Given the description of an element on the screen output the (x, y) to click on. 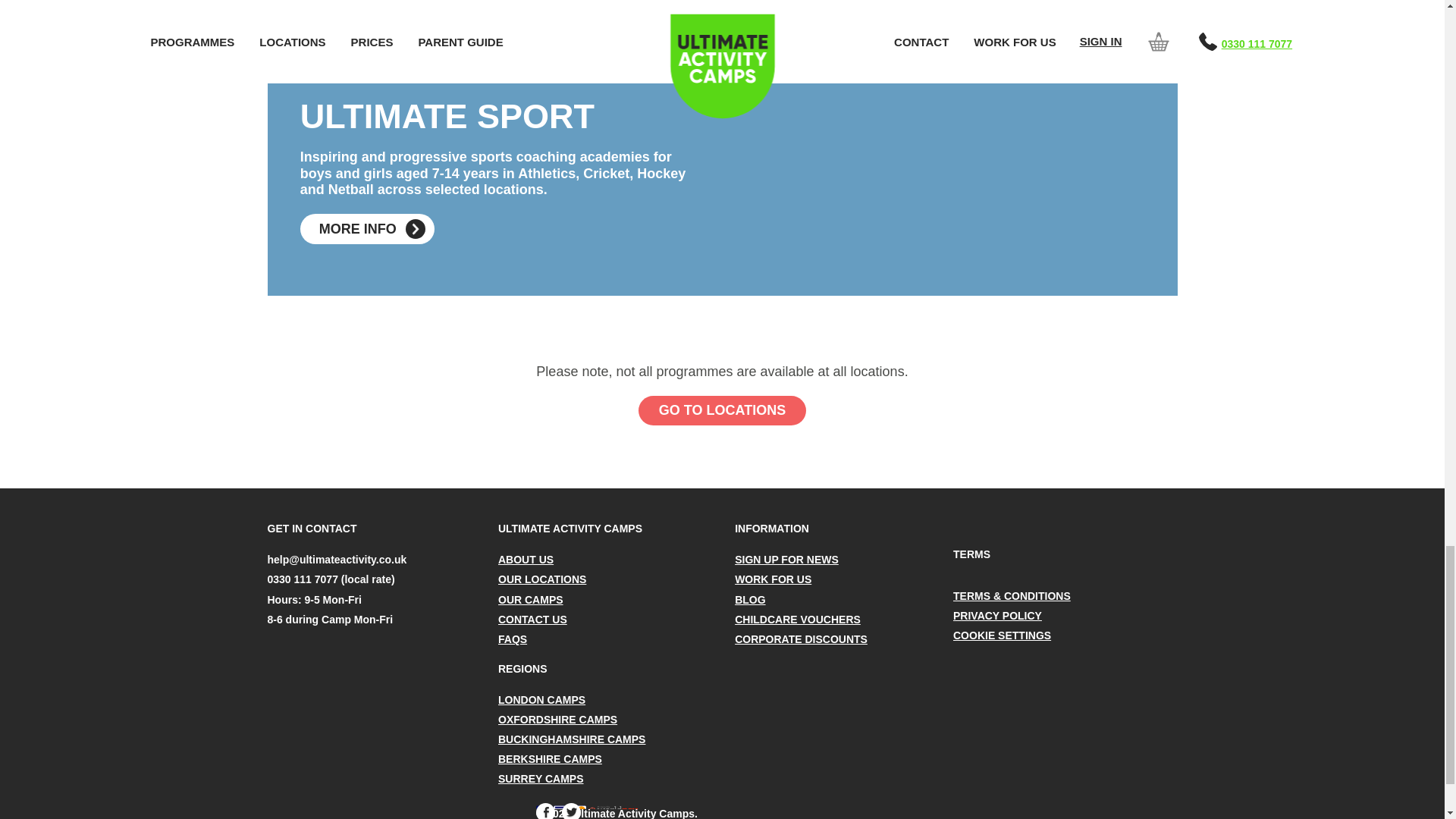
Go to locations (722, 410)
Telephone number (330, 579)
email link (336, 559)
